Given the description of an element on the screen output the (x, y) to click on. 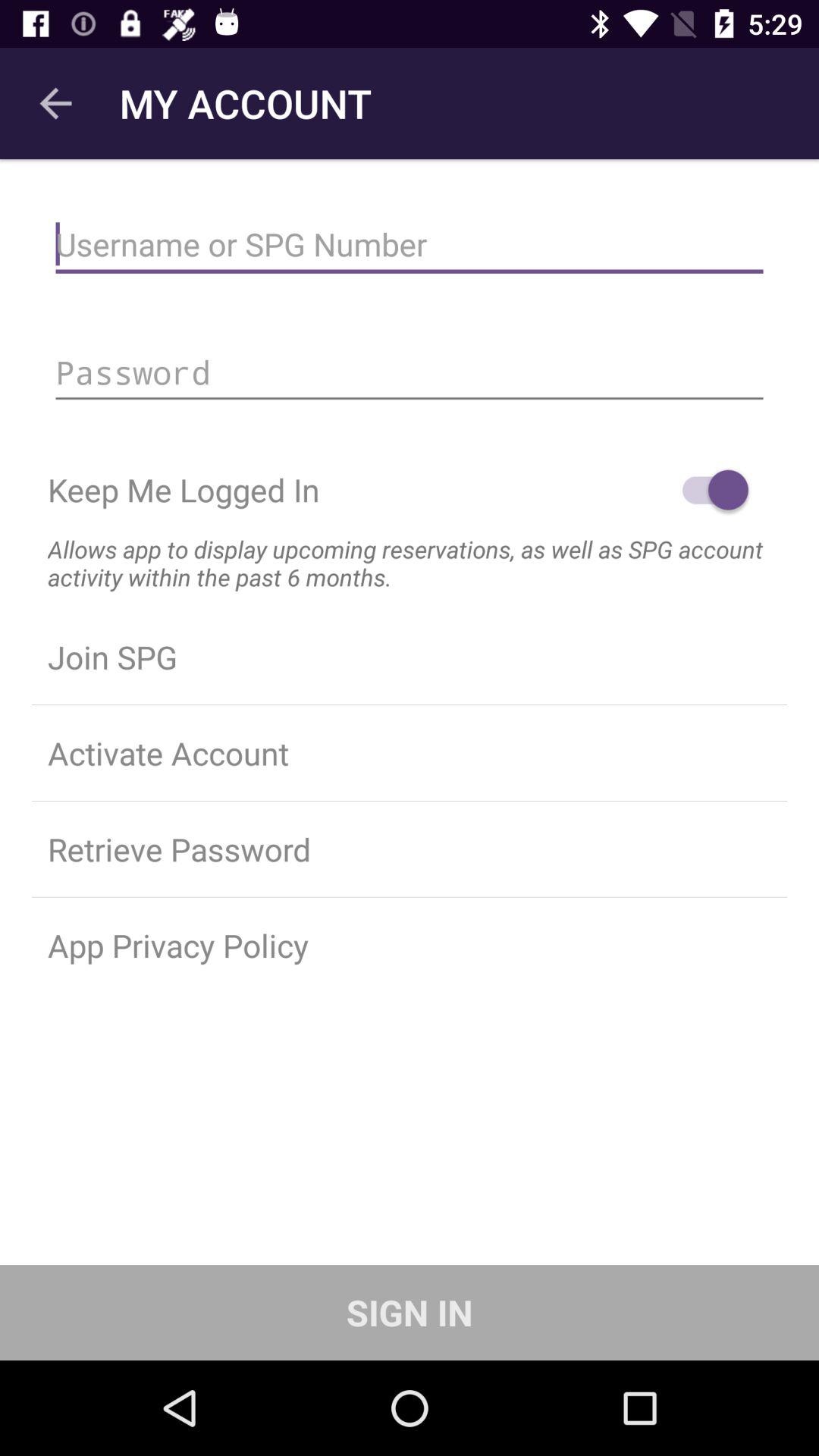
toggle login option (707, 489)
